Given the description of an element on the screen output the (x, y) to click on. 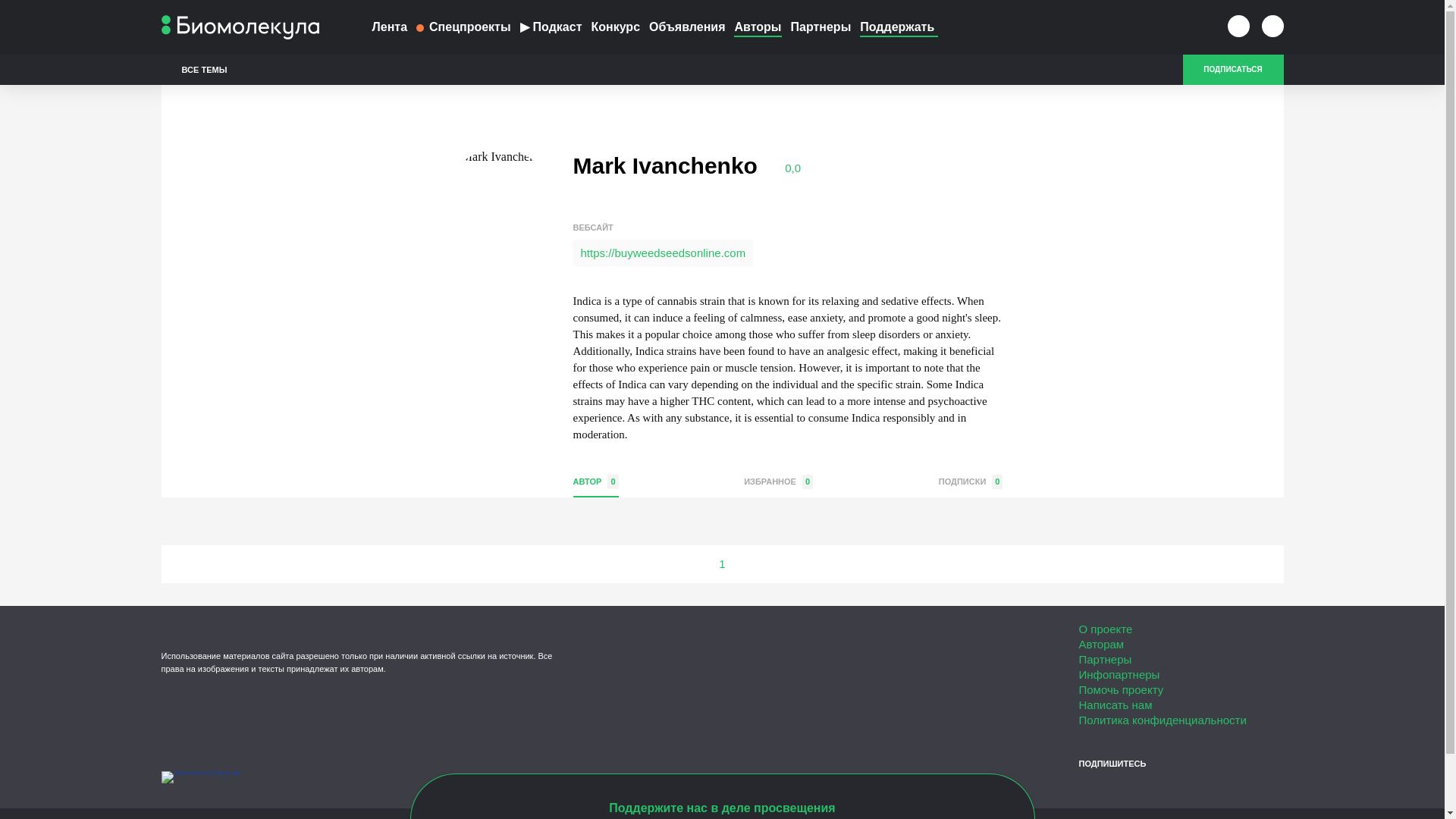
RSS (1240, 789)
Instagram (1164, 788)
TikTok (1216, 788)
Telegram (1139, 789)
